Given the description of an element on the screen output the (x, y) to click on. 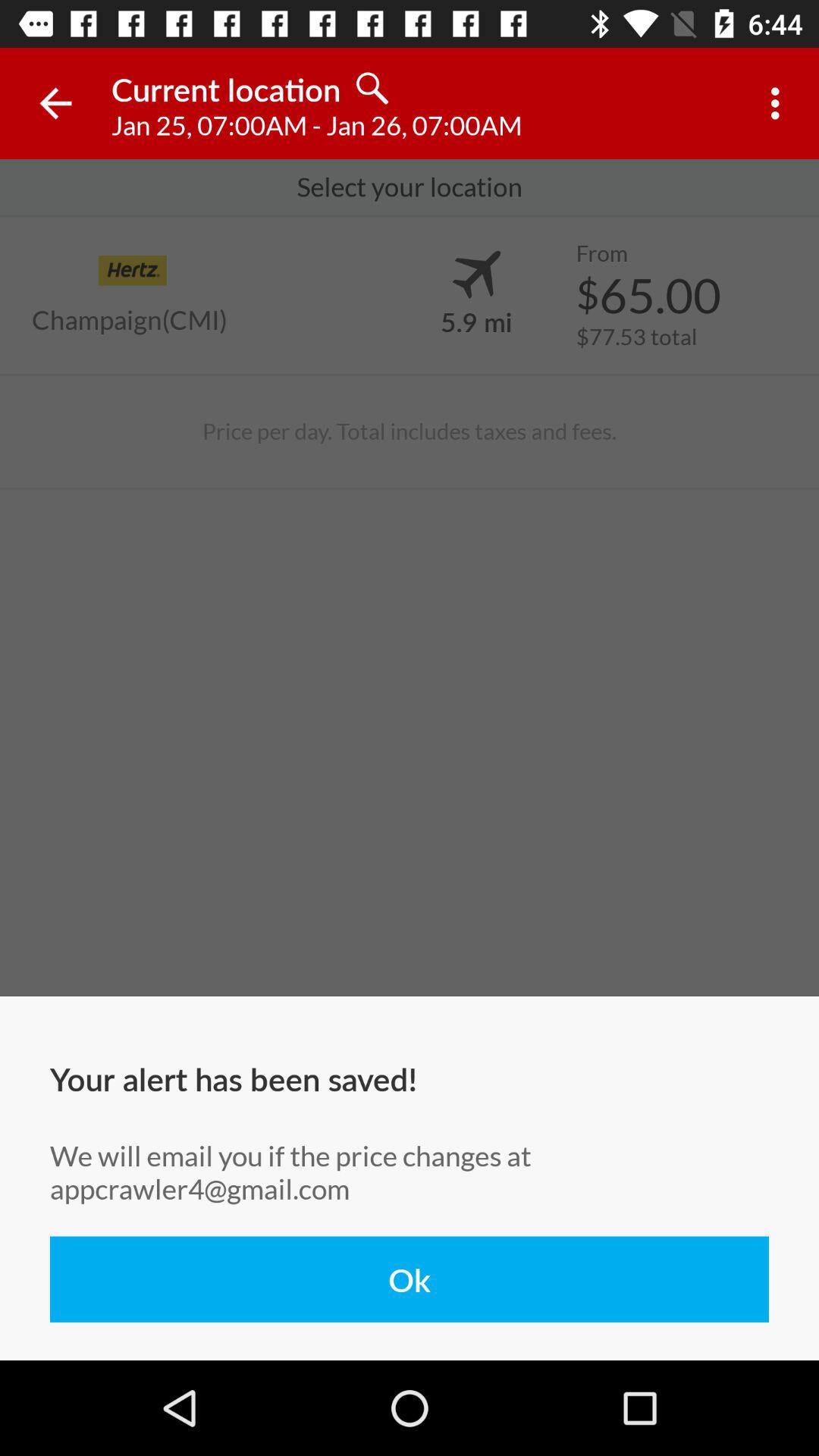
press the icon above select your location item (55, 103)
